Given the description of an element on the screen output the (x, y) to click on. 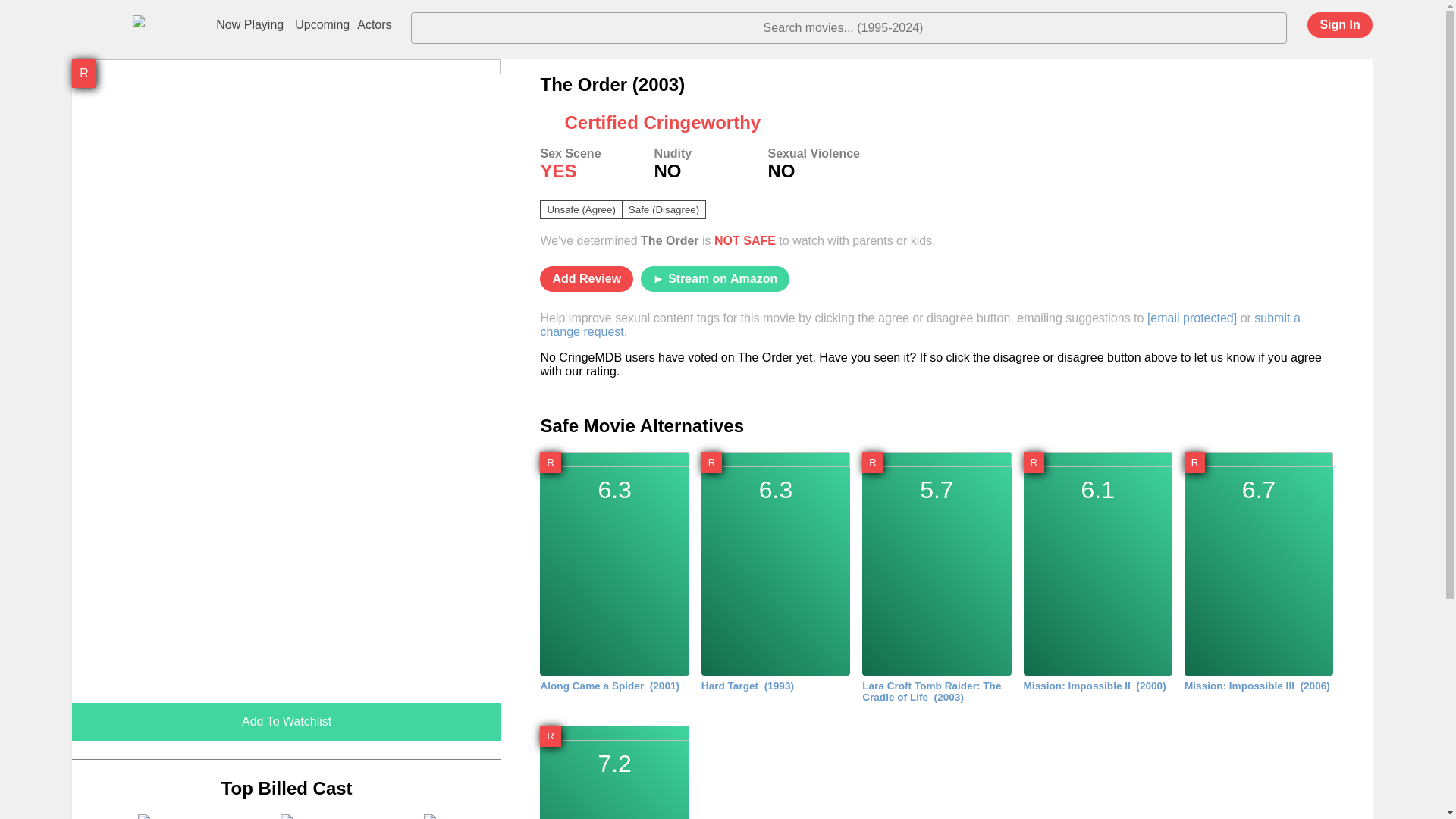
Sign In (1339, 24)
Upcoming (322, 25)
Sign In (1324, 29)
submit a change request (143, 816)
Now Playing (920, 325)
Add Review (249, 25)
Actors (586, 278)
Add To Watchlist (286, 816)
